Given the description of an element on the screen output the (x, y) to click on. 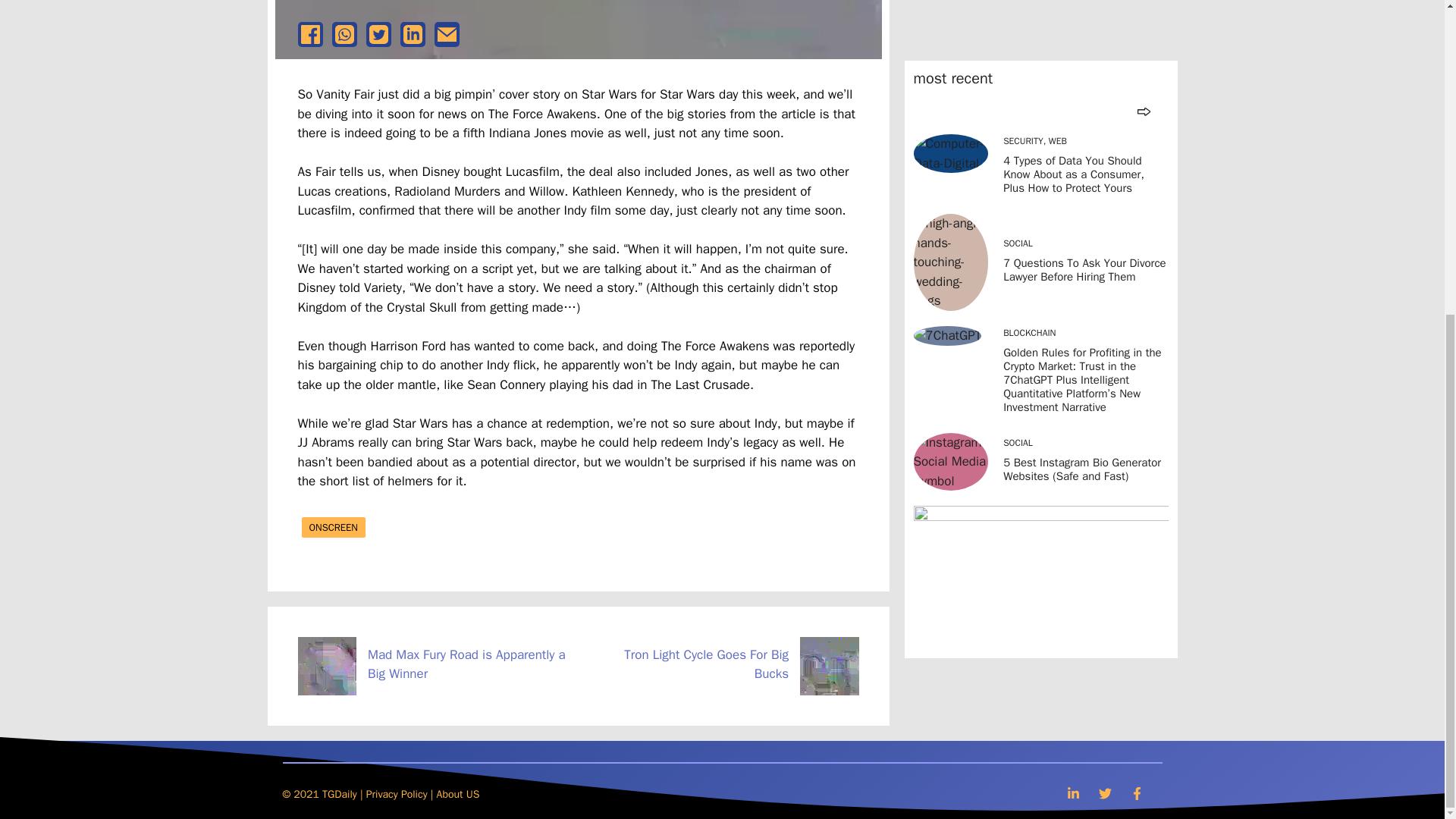
purple-600x400-1 (1039, 103)
